Given the description of an element on the screen output the (x, y) to click on. 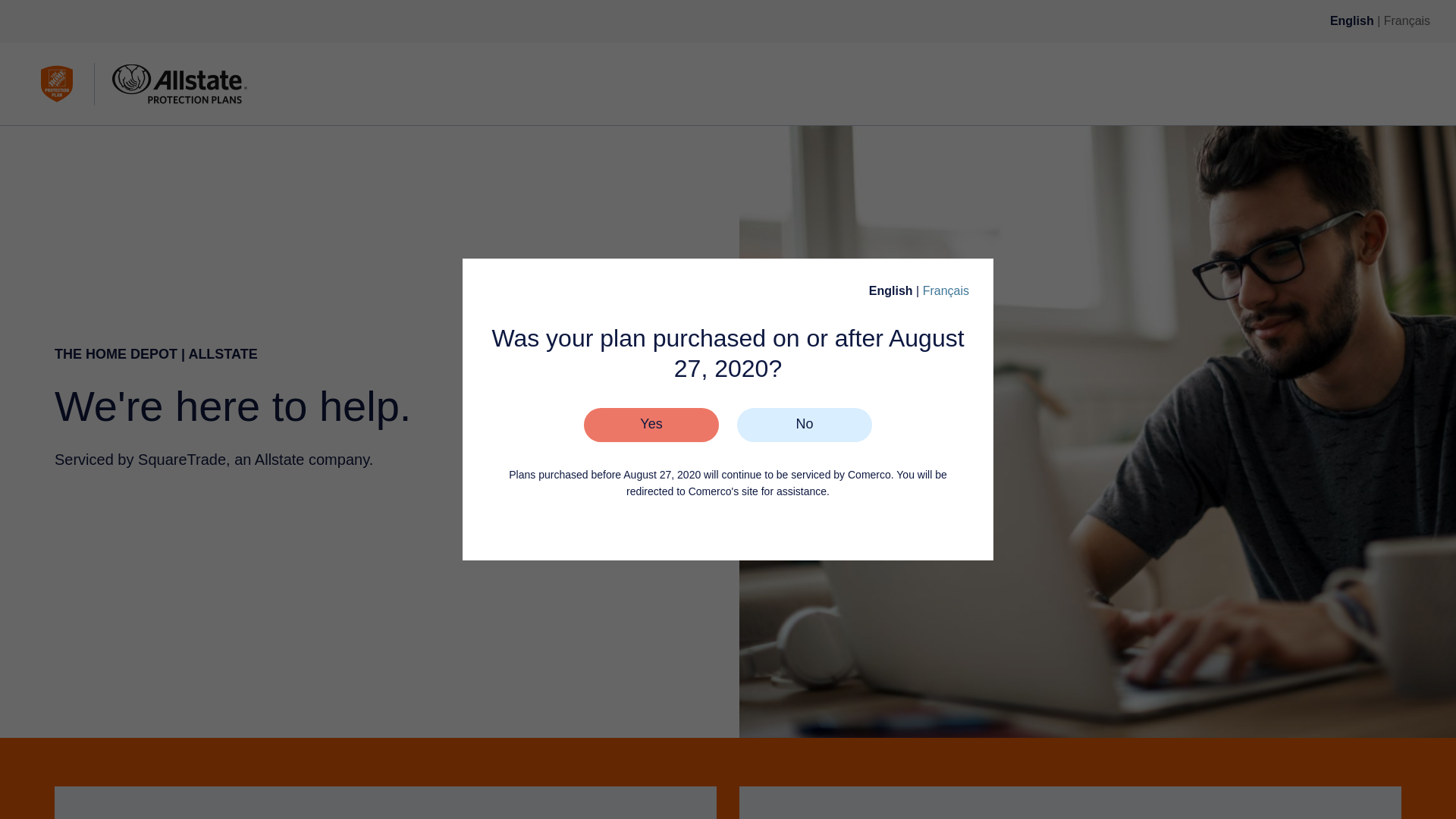
Yes (651, 424)
No (804, 424)
